Given the description of an element on the screen output the (x, y) to click on. 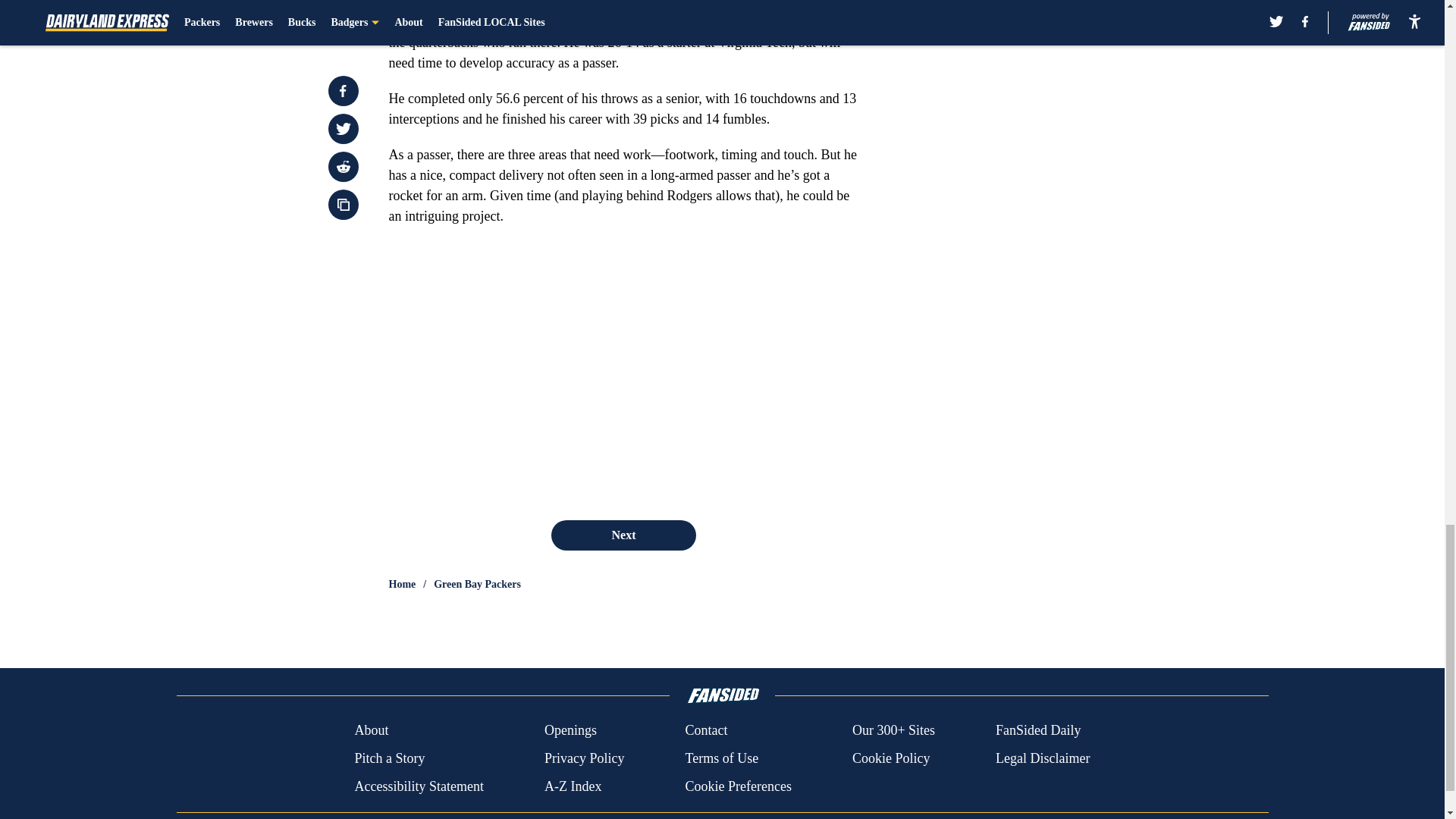
Green Bay Packers (477, 584)
Next (622, 535)
Home (401, 584)
Pitch a Story (389, 758)
About (370, 730)
Contact (705, 730)
FanSided Daily (1038, 730)
Openings (570, 730)
